Given the description of an element on the screen output the (x, y) to click on. 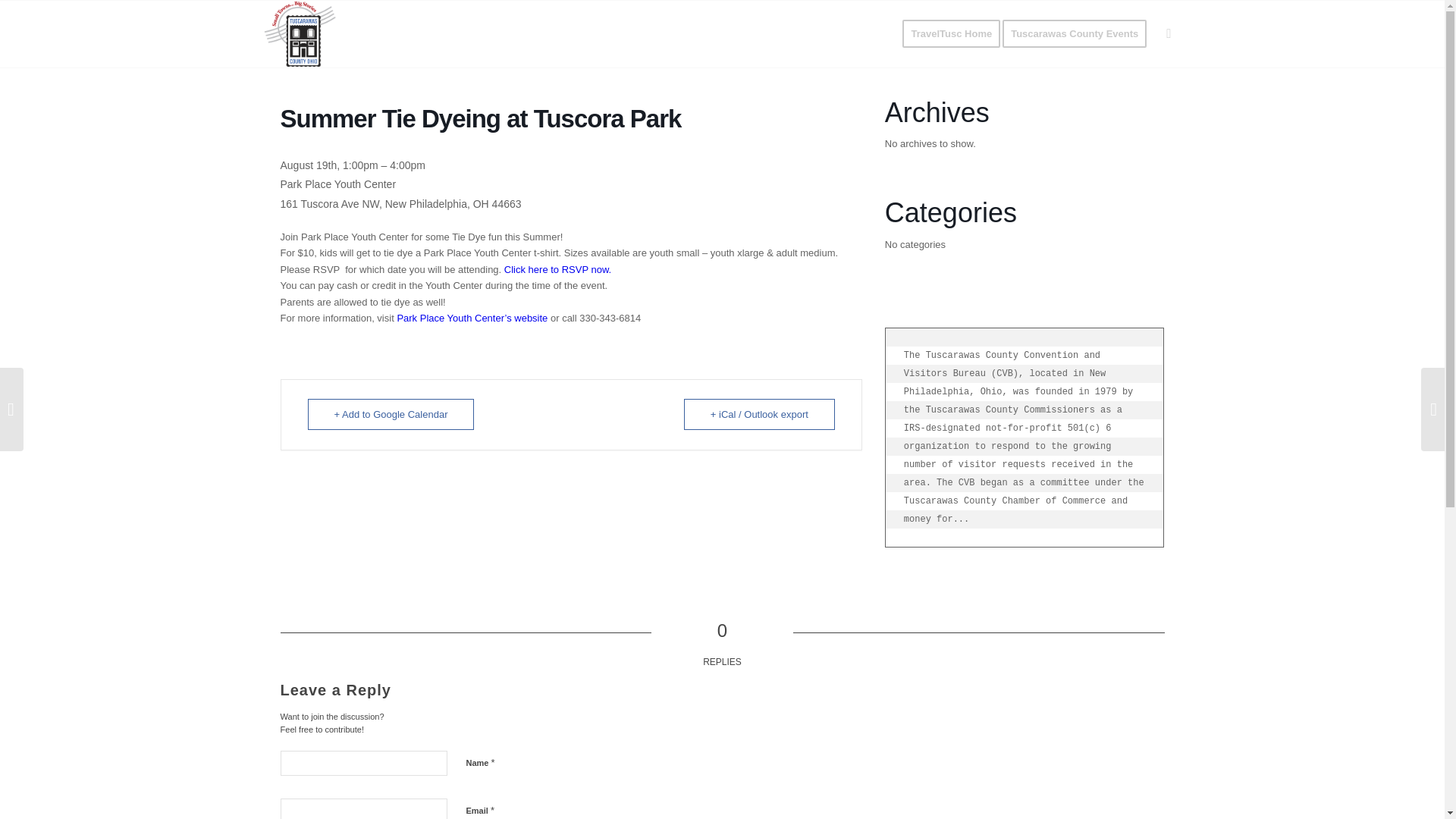
Tuscarawas County Events (1079, 33)
TravelTusc Home (951, 33)
cvbmain (300, 33)
Click here to RSVP now. (557, 269)
